Given the description of an element on the screen output the (x, y) to click on. 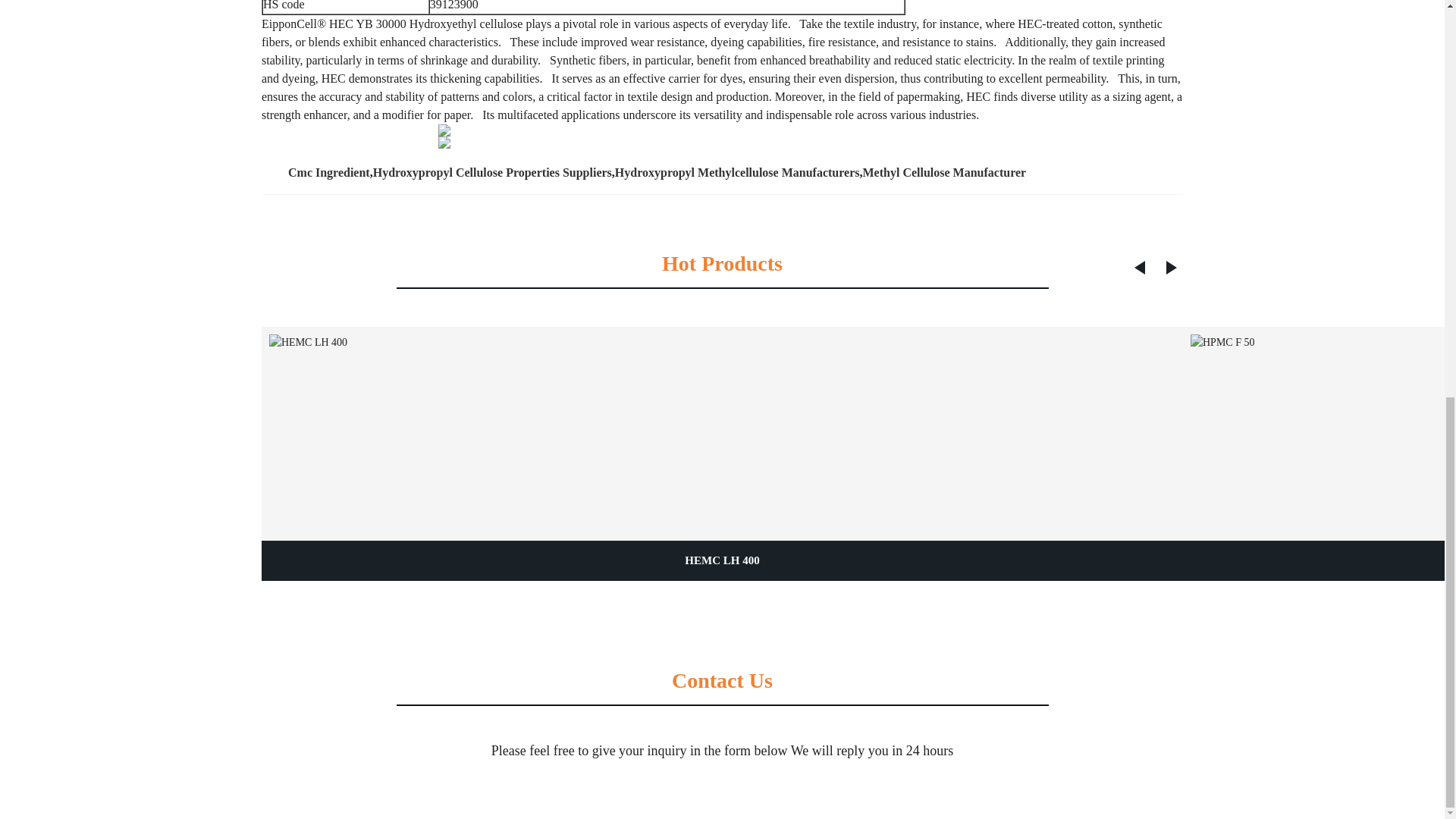
Cmc Ingredient (328, 172)
Methyl Cellulose Manufacturer (944, 172)
Hydroxypropyl Methylcellulose Manufacturers (737, 172)
Hydroxypropyl Cellulose Properties Suppliers (491, 172)
